Given the description of an element on the screen output the (x, y) to click on. 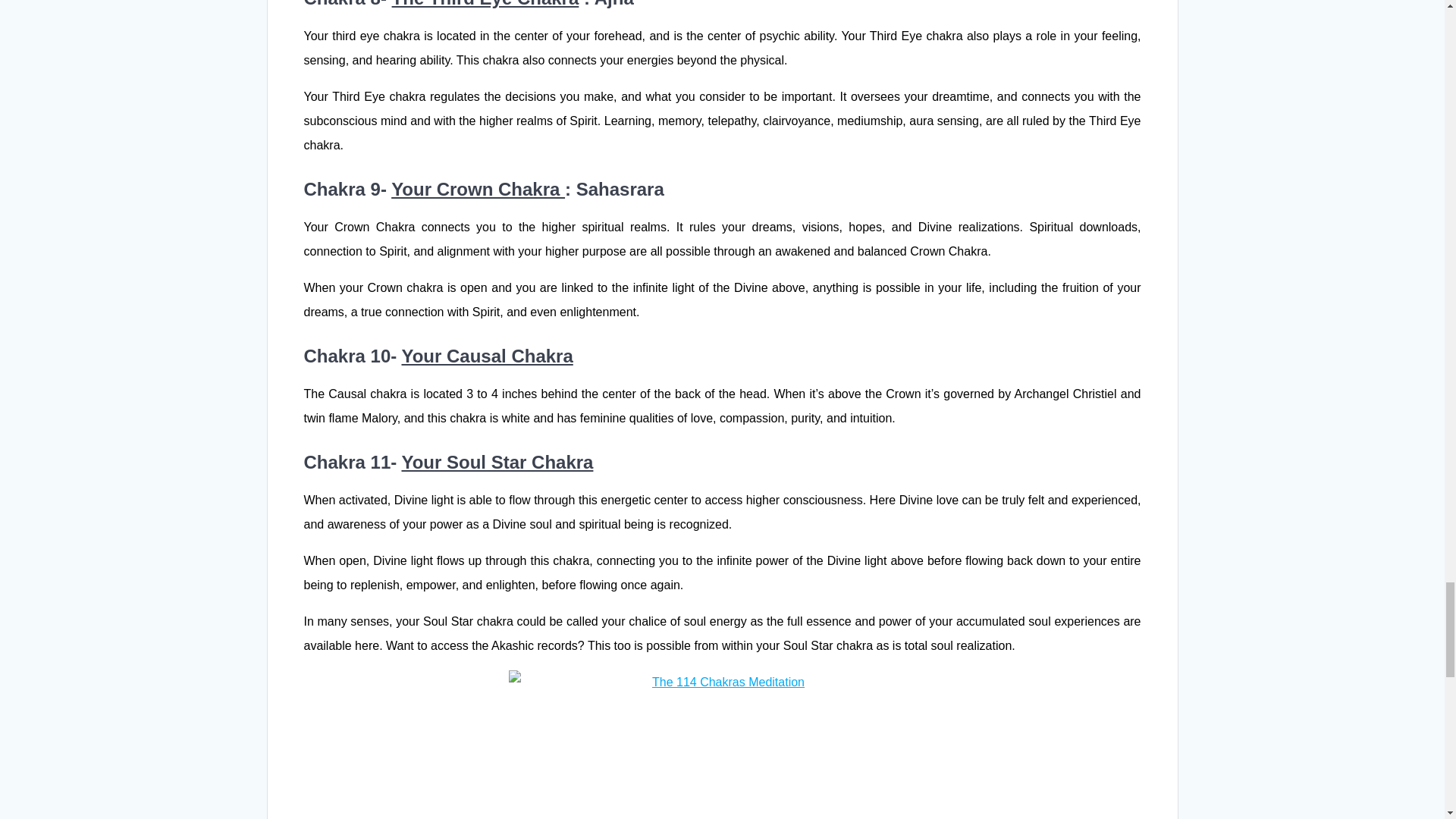
Your Soul Star Chakra (496, 462)
The Third Eye Chakra (485, 4)
Your Crown Chakra (477, 189)
Your Causal Chakra (486, 355)
The Twelve Primary Chakras in Human Body 3 (722, 744)
